Given the description of an element on the screen output the (x, y) to click on. 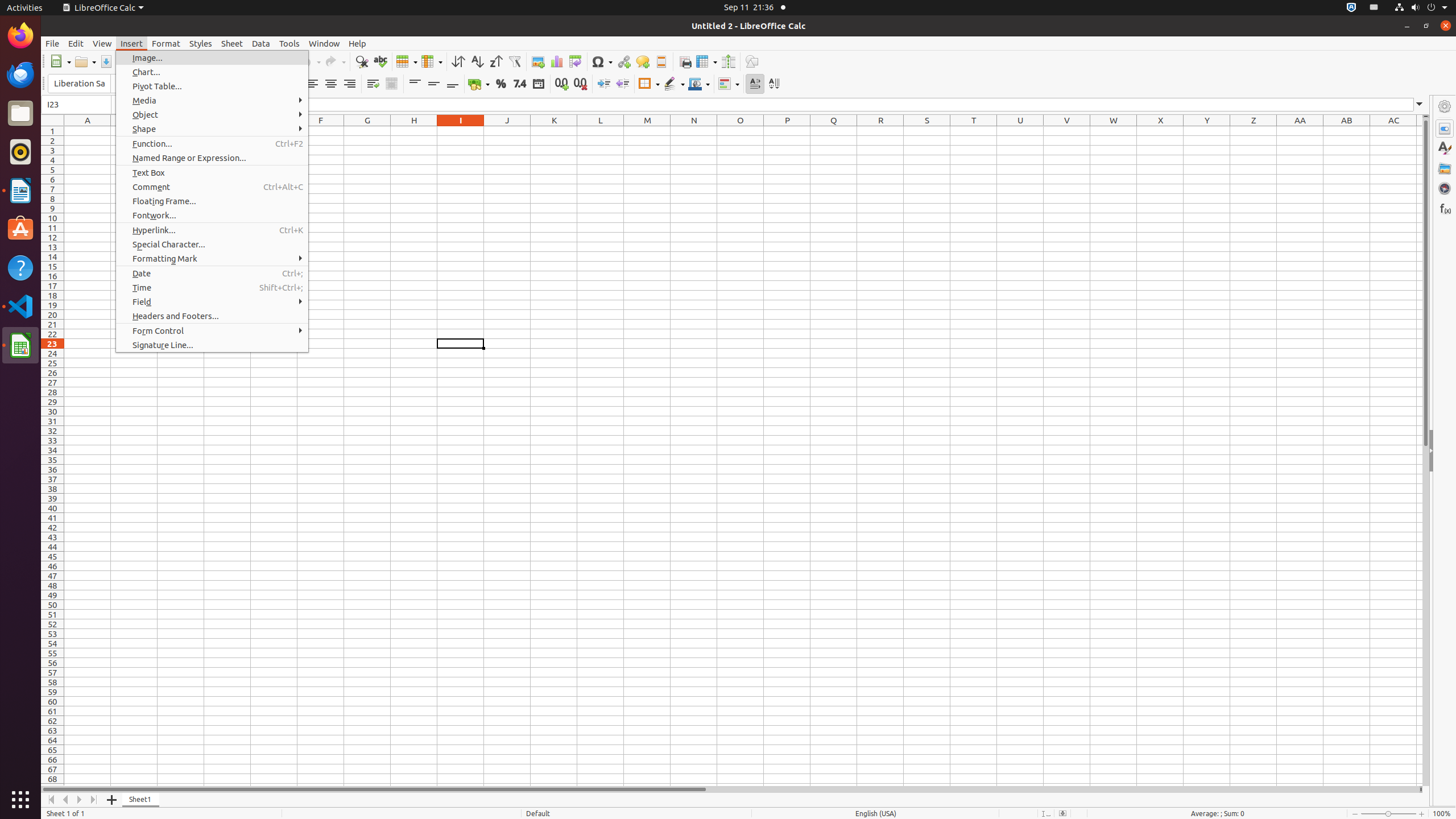
LibreOffice Calc Element type: menu (102, 7)
Properties Element type: panel (1444, 450)
Center Vertically Element type: push-button (433, 83)
Form Control Element type: menu (212, 330)
